Given the description of an element on the screen output the (x, y) to click on. 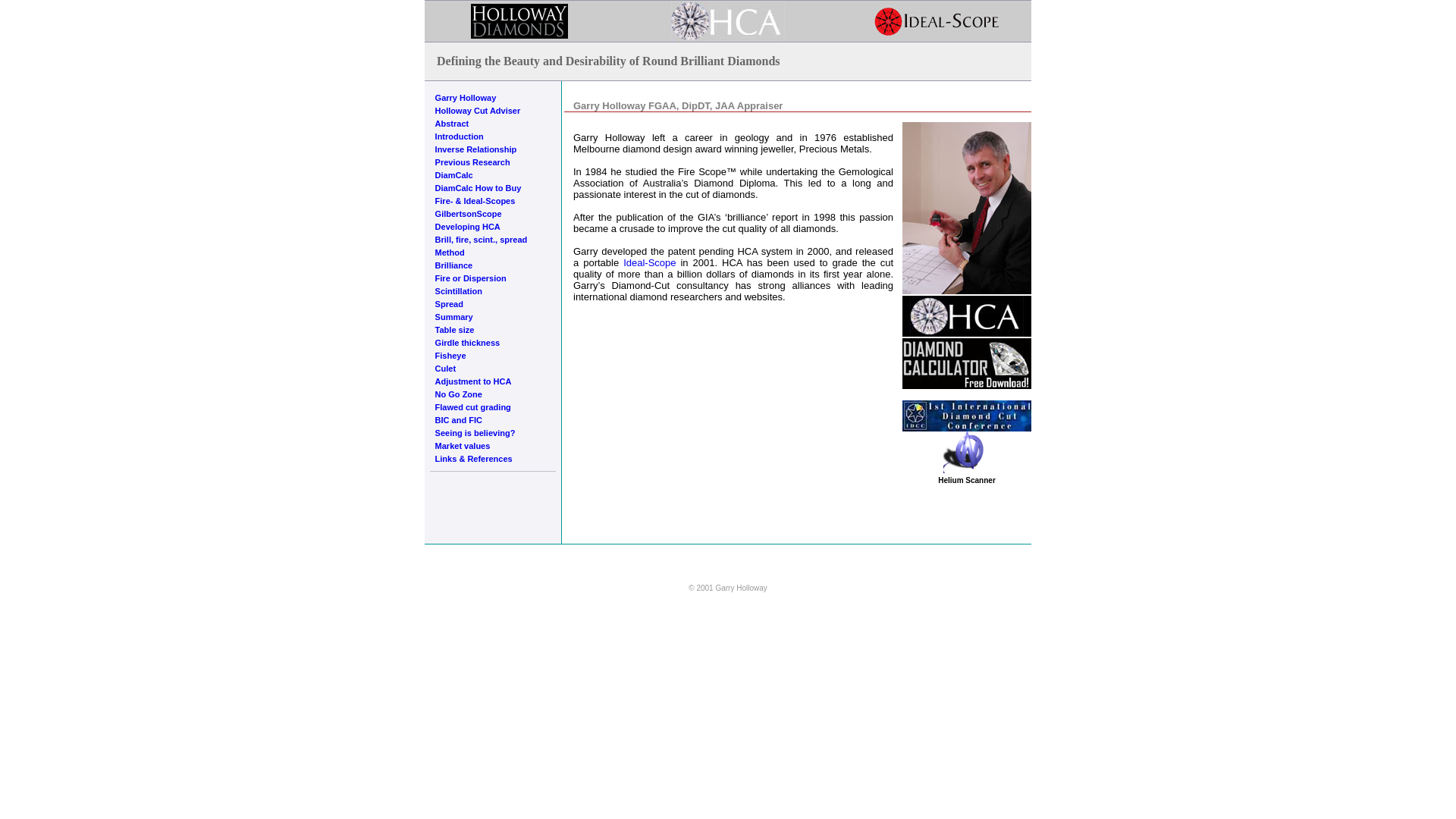
Holloway Cut Adviser Element type: text (477, 110)
Table size Element type: text (454, 329)
Brill, fire, scint., spread Element type: text (481, 239)
Girdle thickness Element type: text (467, 342)
No Go Zone Element type: text (458, 393)
Developing HCA Element type: text (467, 226)
Flawed cut grading Element type: text (473, 406)
Market values Element type: text (462, 445)
BIC and FIC Element type: text (458, 419)
Fire- & Ideal-Scopes Element type: text (475, 200)
Brilliance Element type: text (454, 264)
DiamCalc Element type: text (454, 174)
Links & References Element type: text (473, 458)
Fisheye Element type: text (450, 355)
Method Element type: text (449, 252)
Previous Research Element type: text (472, 161)
Summary Element type: text (454, 316)
Adjustment to HCA Element type: text (473, 380)
Abstract Element type: text (452, 123)
Culet Element type: text (445, 368)
Fire or Dispersion Element type: text (470, 277)
Seeing is believing? Element type: text (475, 432)
Garry Holloway Element type: text (465, 97)
DiamCalc How to Buy Element type: text (478, 187)
Ideal-Scope Element type: text (649, 262)
Scintillation Element type: text (458, 290)
Inverse Relationship Element type: text (476, 148)
Spread Element type: text (449, 303)
Introduction Element type: text (459, 136)
GilbertsonScope Element type: text (468, 213)
